Given the description of an element on the screen output the (x, y) to click on. 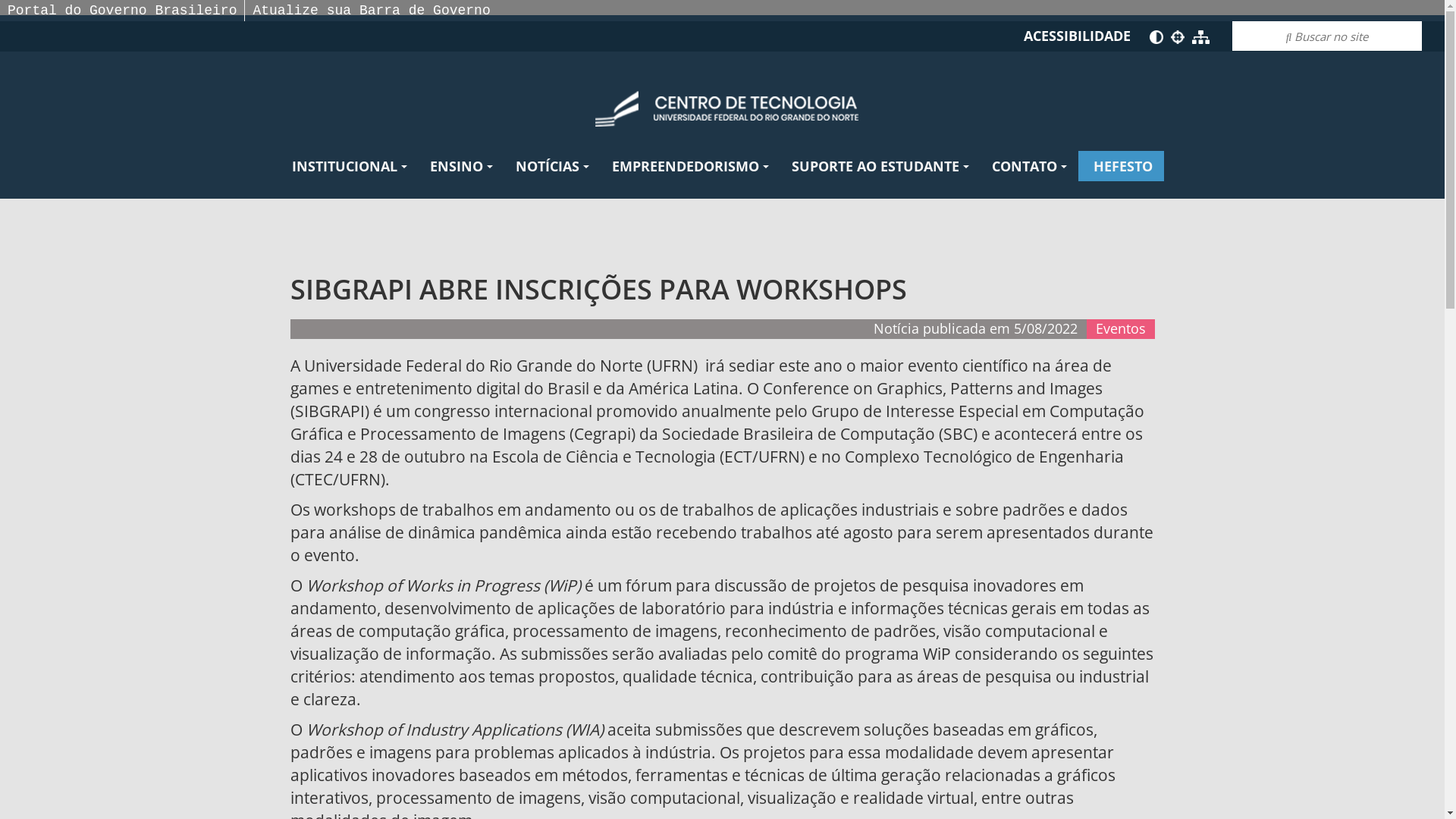
SUPORTE AO ESTUDANTE Element type: text (880, 165)
CONTATO Element type: text (1029, 165)
EMPREENDEDORISMO Element type: text (690, 165)
Portal do Governo Brasileiro Element type: text (121, 10)
Eventos Element type: text (1120, 328)
Contraste Element type: hover (1156, 36)
Atualize sua Barra de Governo Element type: text (370, 10)
Ir direto para o texto Element type: hover (1177, 36)
ENSINO Element type: text (461, 165)
INSTITUCIONAL Element type: text (349, 165)
Mapa do Site Element type: hover (1200, 35)
HEFESTO Element type: text (1121, 165)
